Given the description of an element on the screen output the (x, y) to click on. 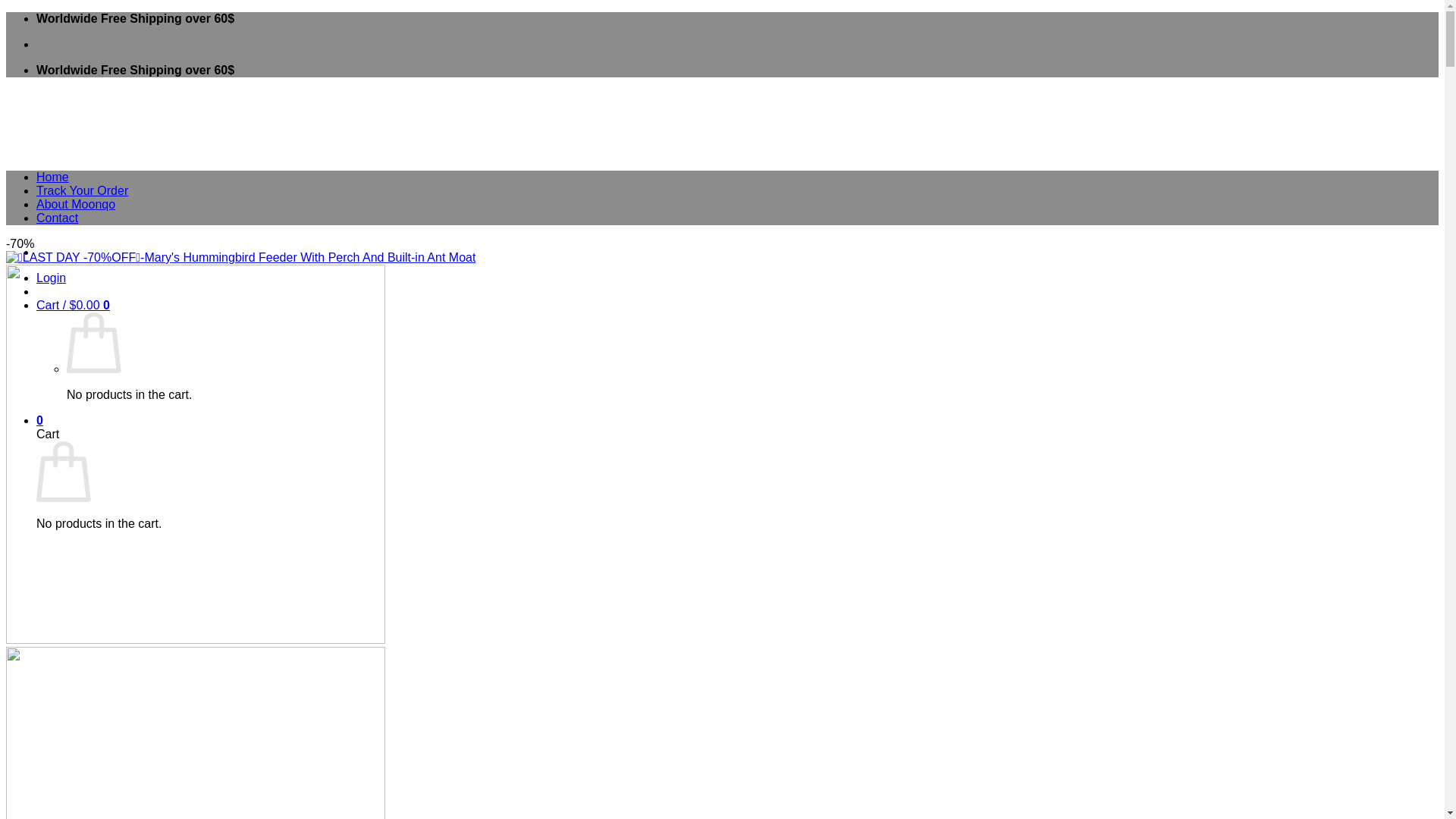
Cart (39, 420)
Home (52, 176)
Track Your Order (82, 190)
0 (39, 420)
Cart (73, 305)
About Moonqo (75, 204)
Login (50, 277)
Moonqo Store (337, 190)
Login (50, 277)
Contact (57, 217)
